Given the description of an element on the screen output the (x, y) to click on. 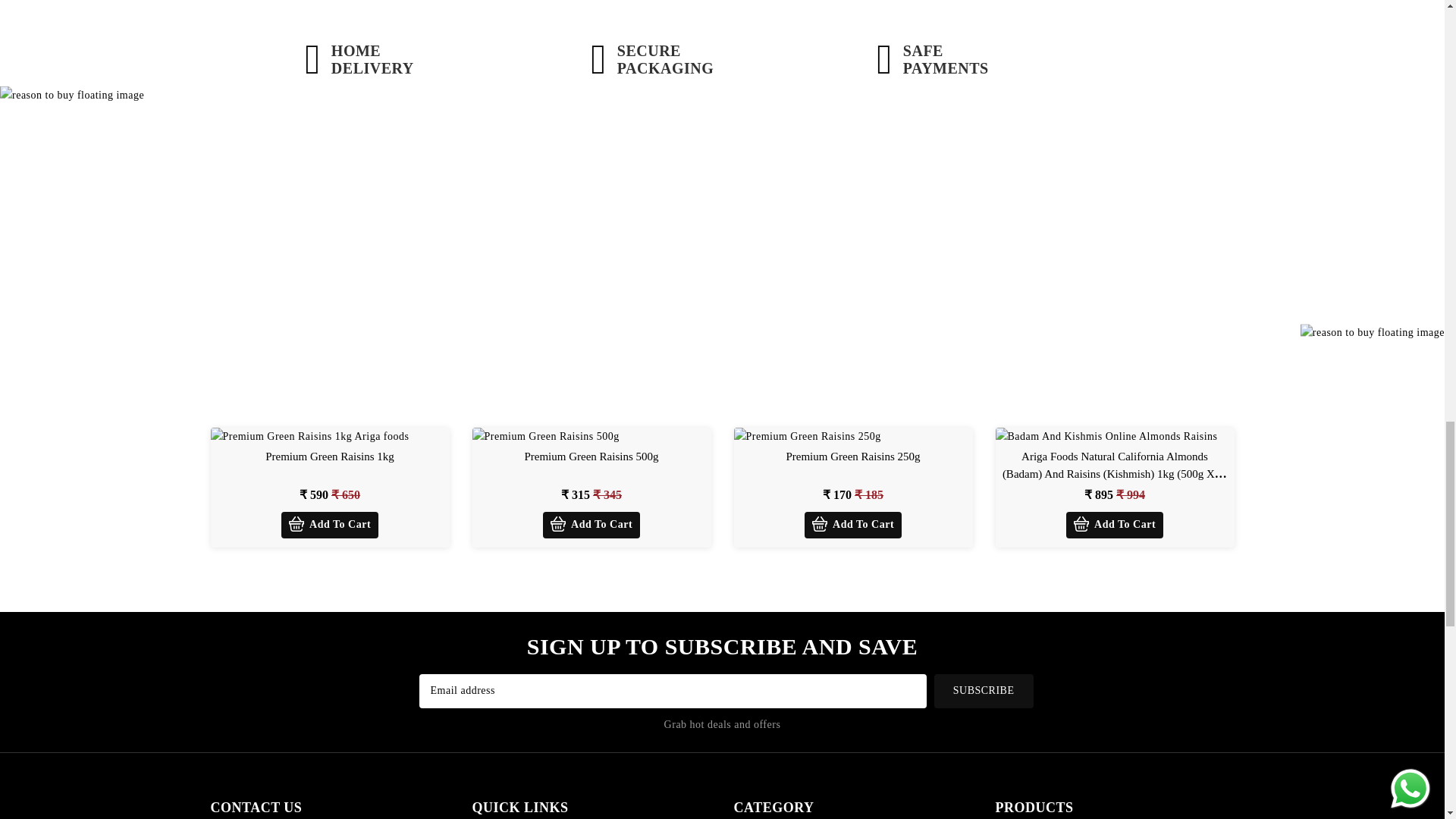
Add to cart (329, 524)
Add to cart (1114, 524)
Add to cart (853, 524)
Add to cart (591, 524)
